Given the description of an element on the screen output the (x, y) to click on. 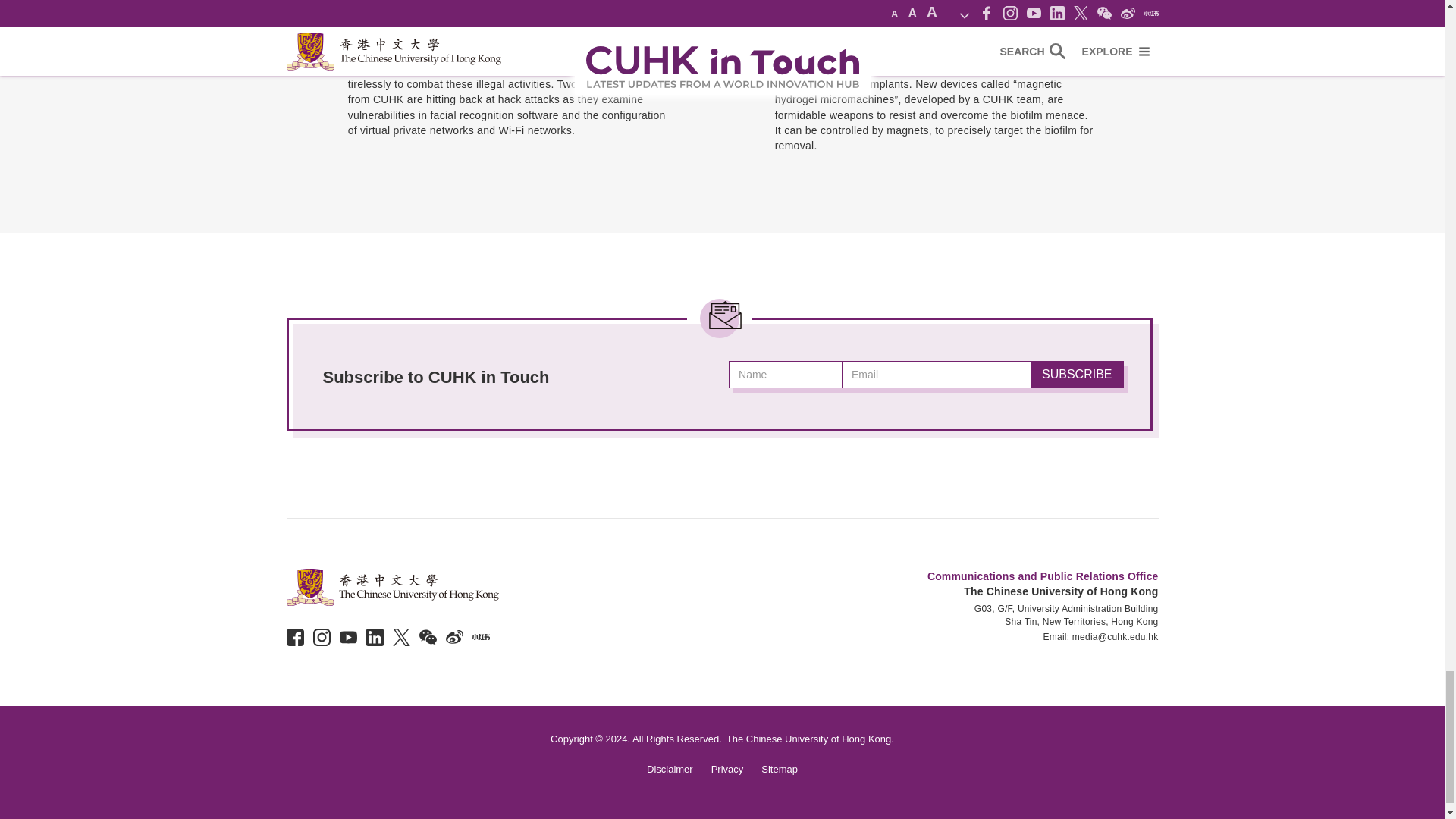
SUBSCRIBE (1076, 374)
